Given the description of an element on the screen output the (x, y) to click on. 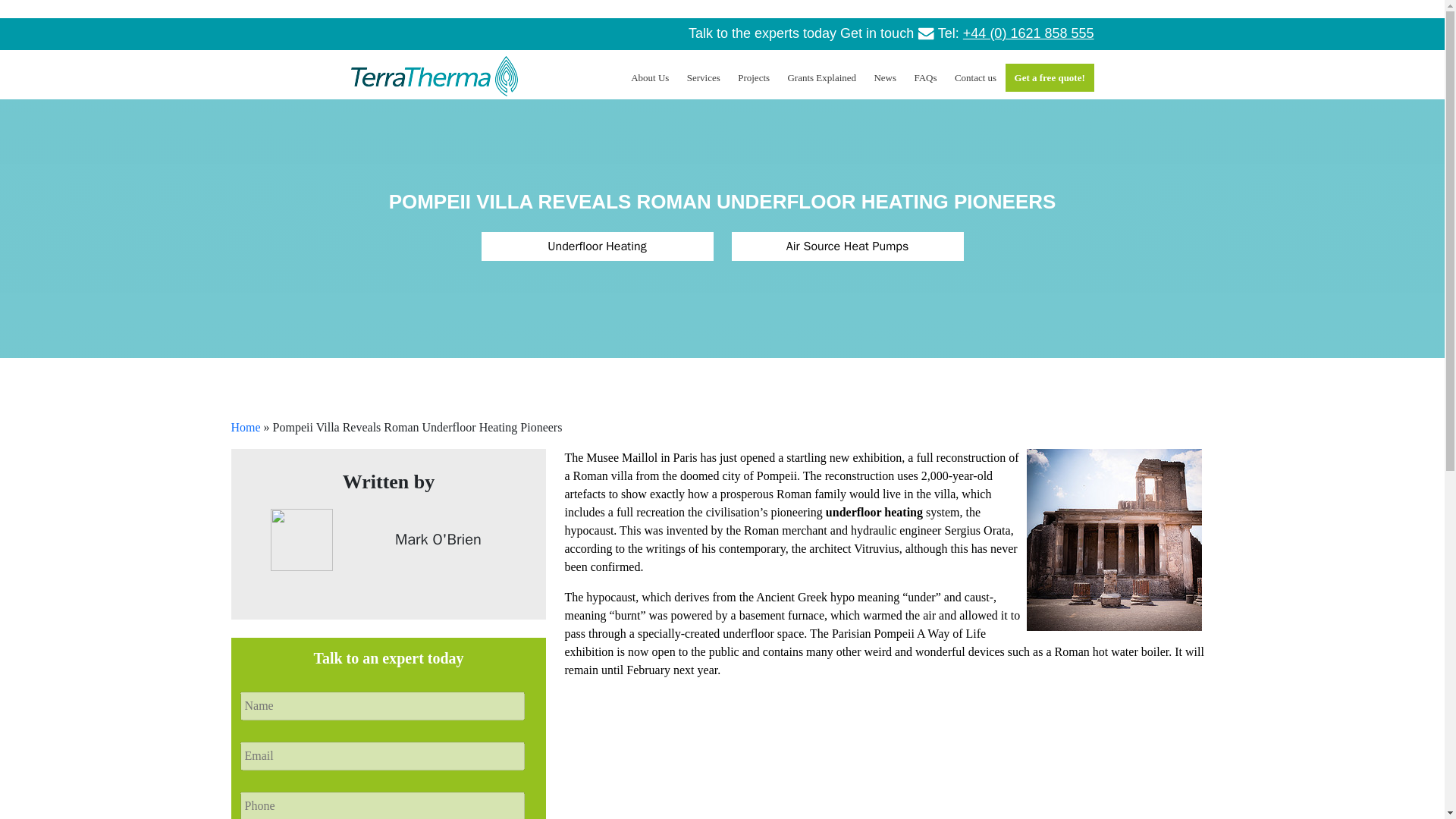
News (884, 77)
Projects (753, 77)
Services (703, 77)
About Us (649, 77)
FAQs (924, 77)
Grants Explained (821, 77)
Contact us (975, 77)
terratherma (433, 76)
Get a free quote! (1050, 77)
